Given the description of an element on the screen output the (x, y) to click on. 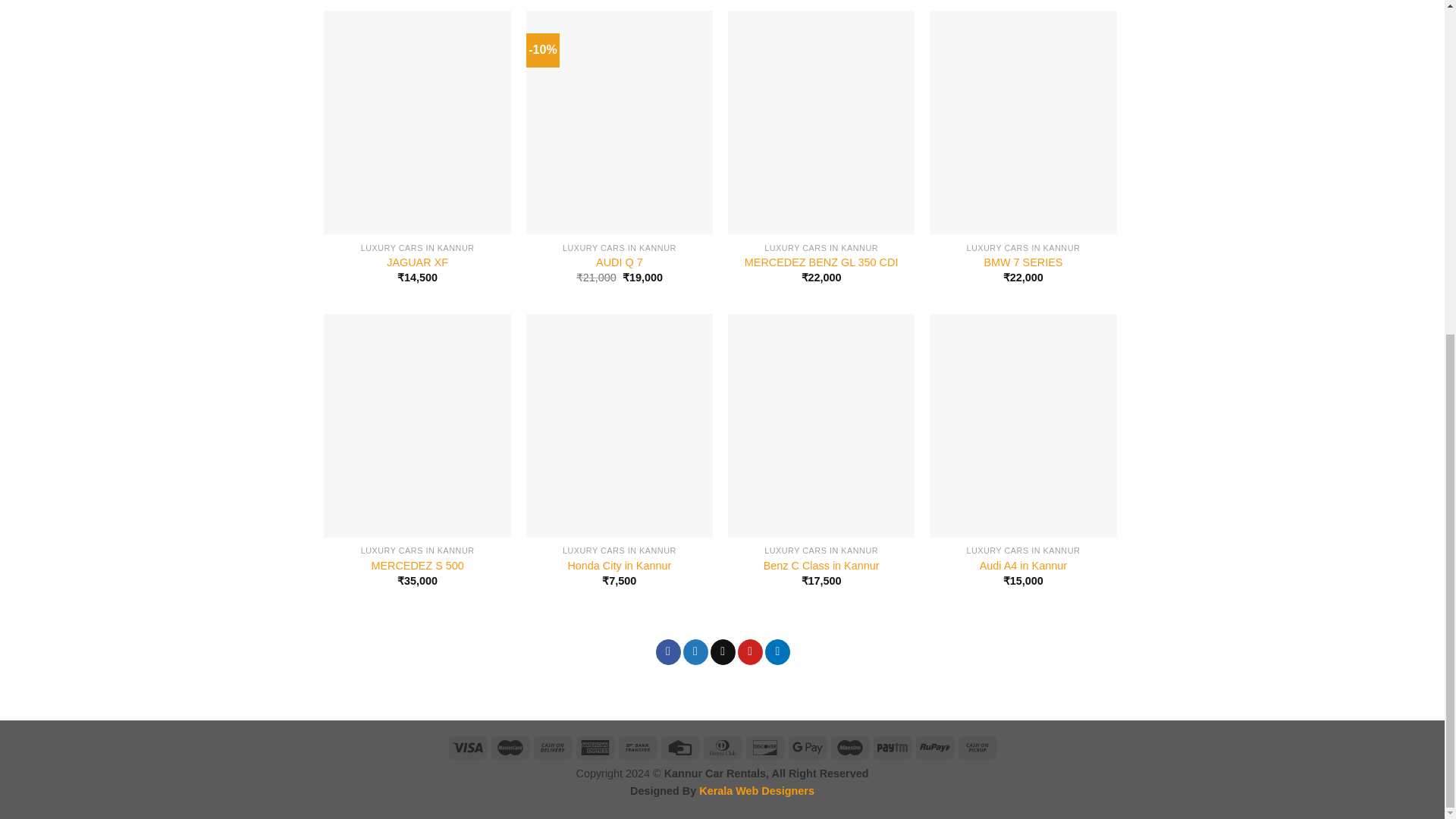
Pin on Pinterest (750, 652)
MERCEDEZ S 500 (417, 565)
Share on Facebook (668, 652)
Share on Twitter (694, 652)
BMW 7 SERIES (1023, 262)
JAGUAR XF (417, 262)
AUDI Q 7 (619, 262)
MERCEDEZ BENZ GL 350 CDI (821, 262)
Email to a Friend (722, 652)
Share on LinkedIn (777, 652)
Honda City in Kannur (619, 565)
